Given the description of an element on the screen output the (x, y) to click on. 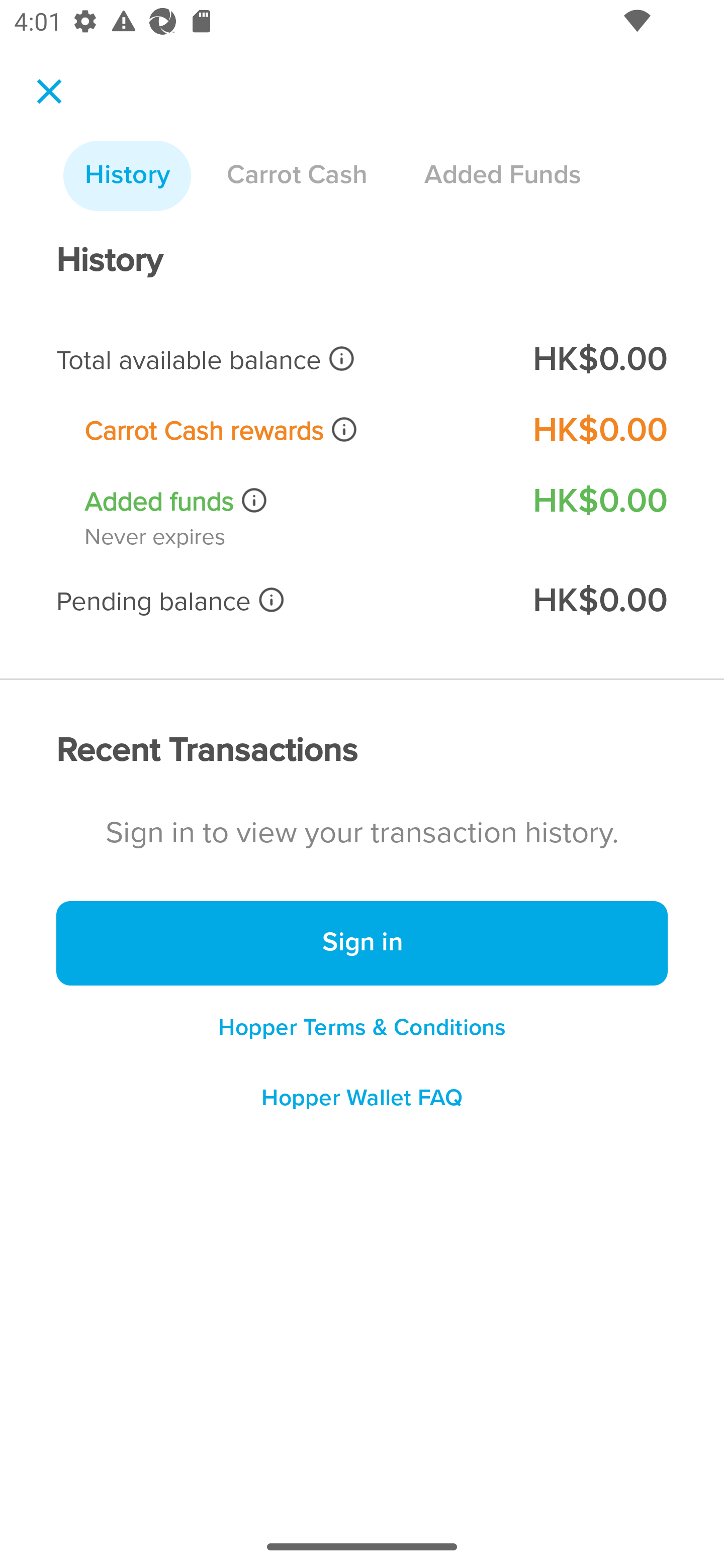
Navigate up (49, 91)
‍History (127, 176)
‍Carrot Cash (296, 176)
‍Added Funds (502, 176)
‍HK$0.00 (599, 359)
‍Total available balance ​ (280, 359)
‍HK$0.00 (599, 430)
‍Carrot Cash rewards ​ (294, 430)
‍HK$0.00 (599, 500)
‍Added funds ​ (294, 501)
‍HK$0.00 (599, 601)
‍Pending balance ​ (280, 601)
‍Sign in (361, 943)
‍Hopper Terms & Conditions (361, 1027)
‍Hopper Wallet FAQ (361, 1104)
